Given the description of an element on the screen output the (x, y) to click on. 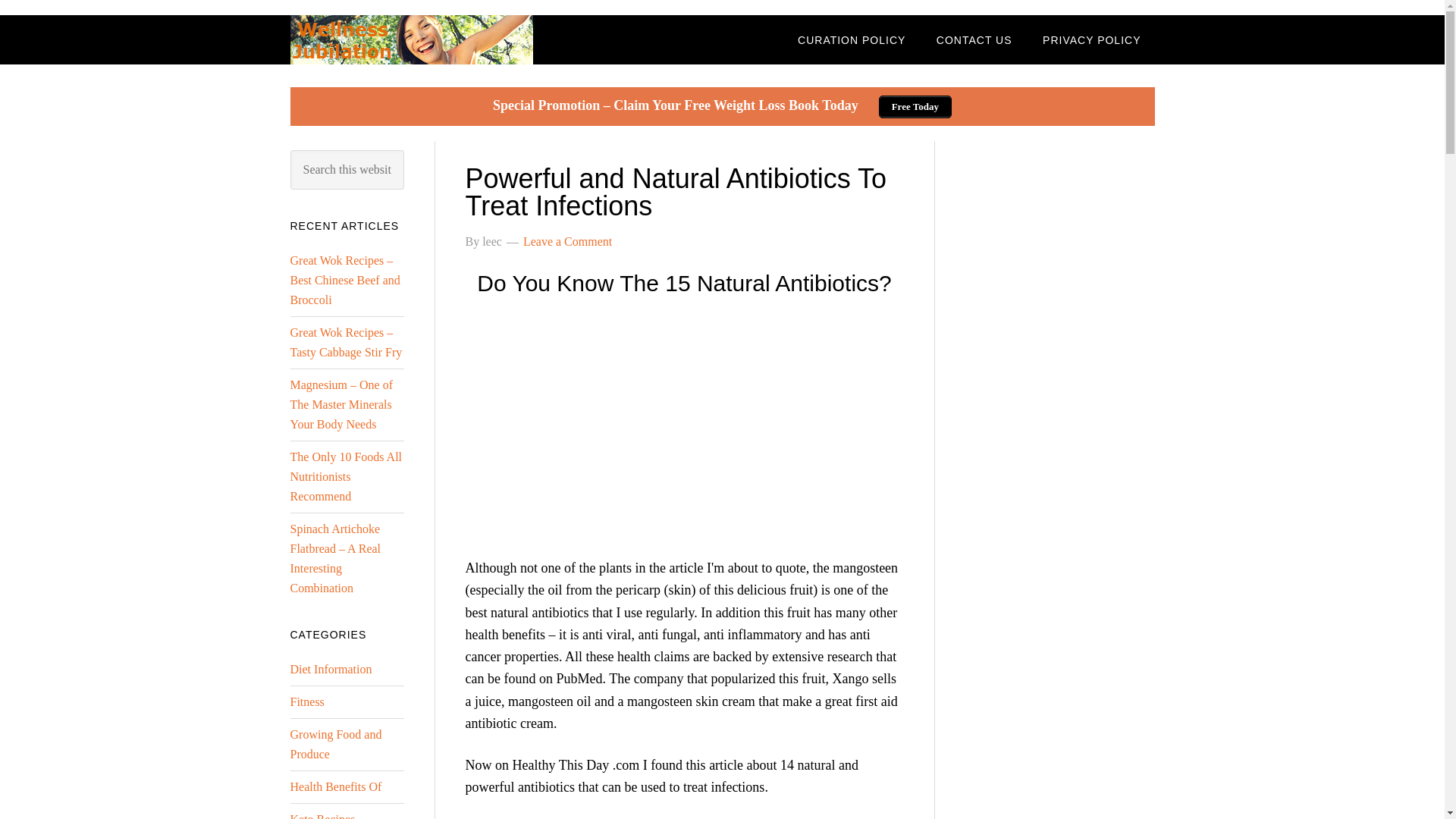
CURATION POLICY (851, 39)
Powerful and Natural Antibiotics To Treat Infections (675, 191)
Health Benefits Of (335, 786)
The Only 10 Foods All Nutritionists Recommend (345, 476)
Leave a Comment (566, 241)
Diet Information (330, 668)
WELLNESS JUBILATION (410, 39)
Growing Food and Produce (335, 744)
PRIVACY POLICY (1091, 39)
Fitness (306, 701)
CONTACT US (974, 39)
Keto Recipes (322, 816)
